Given the description of an element on the screen output the (x, y) to click on. 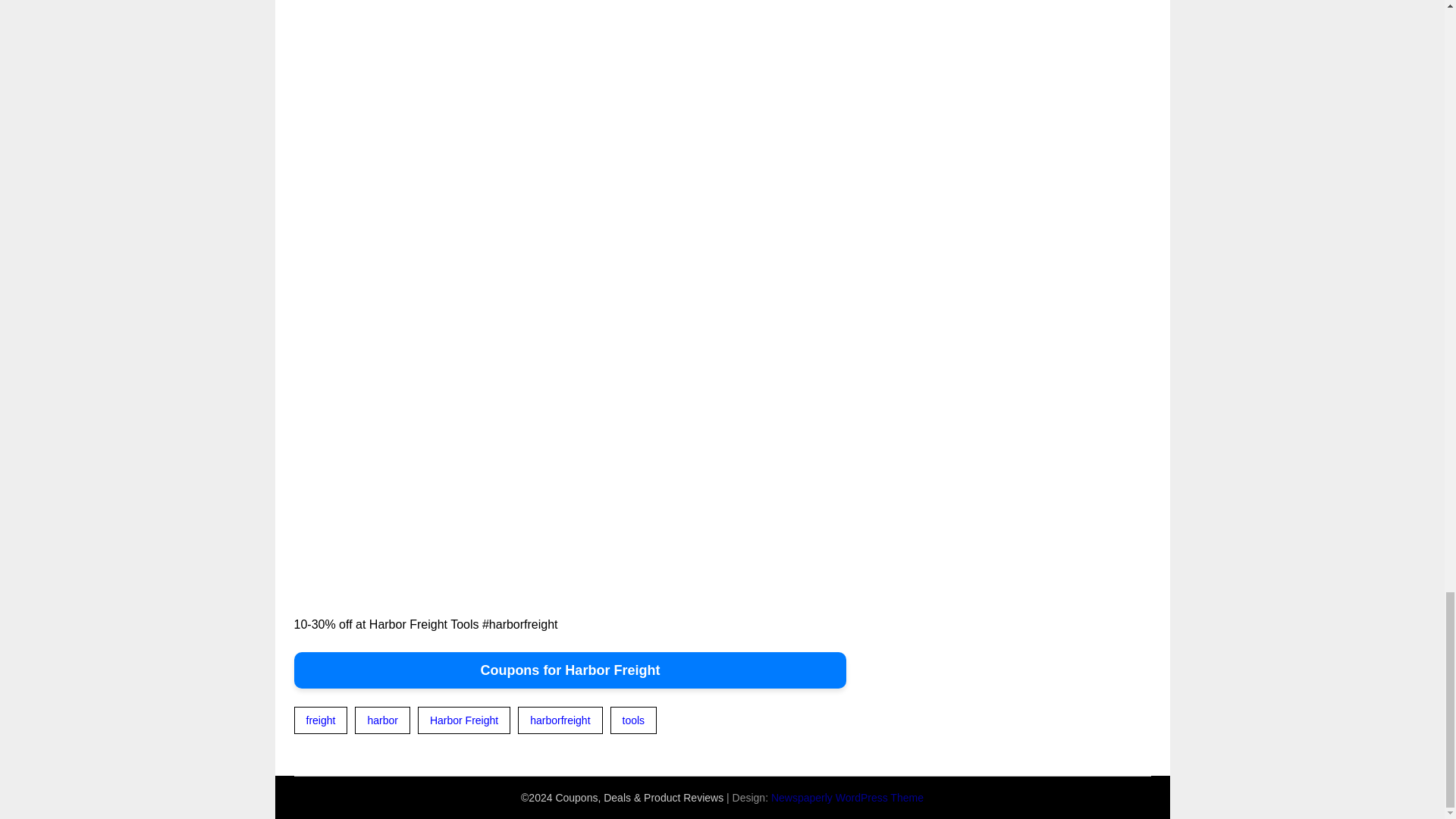
Newspaperly WordPress Theme (847, 797)
harborfreight (560, 719)
freight (320, 719)
harbor (382, 719)
Harbor Freight (464, 719)
tools (634, 719)
Coupons for Harbor Freight (570, 669)
